Given the description of an element on the screen output the (x, y) to click on. 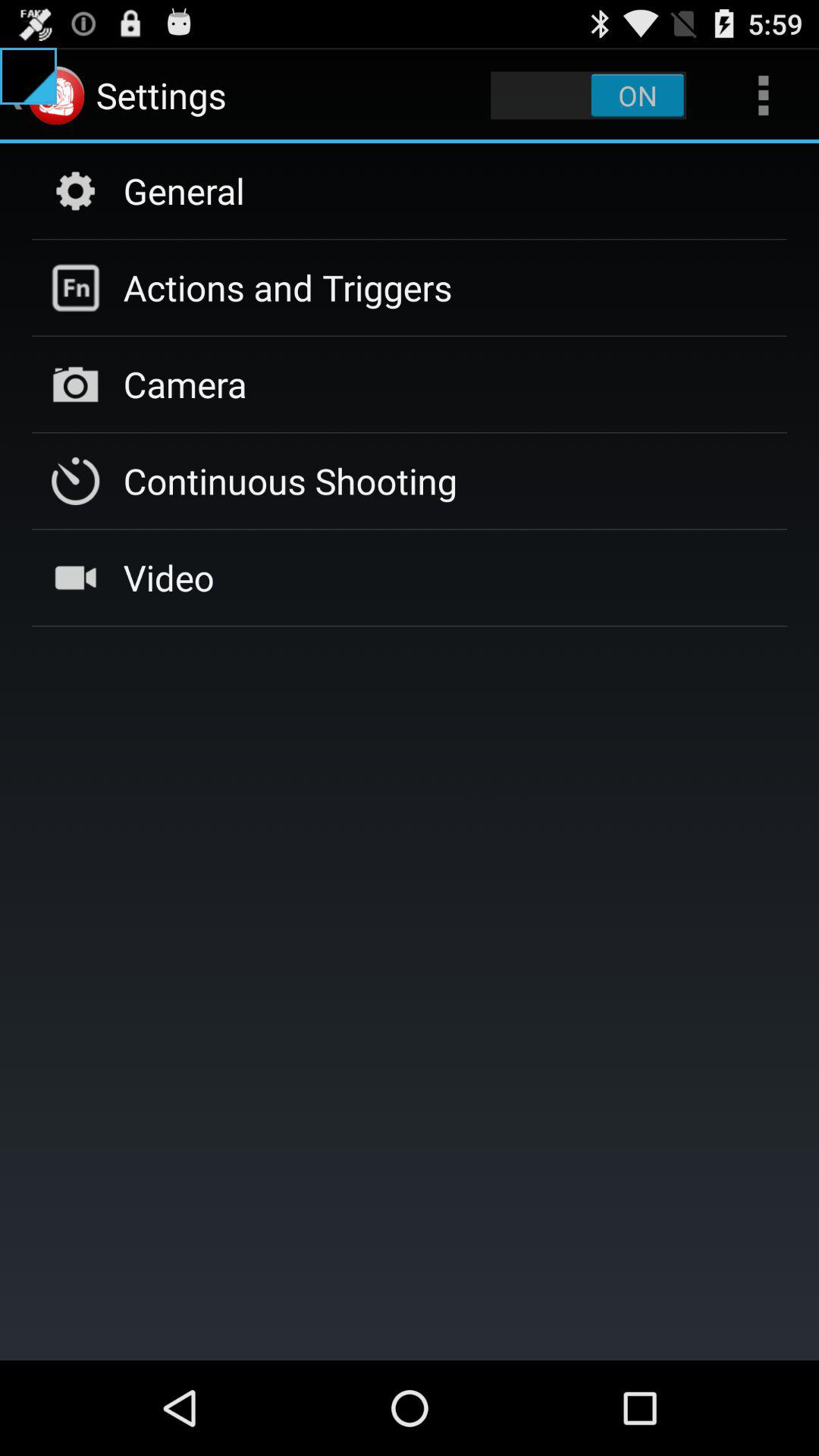
open actions and triggers (287, 287)
